Given the description of an element on the screen output the (x, y) to click on. 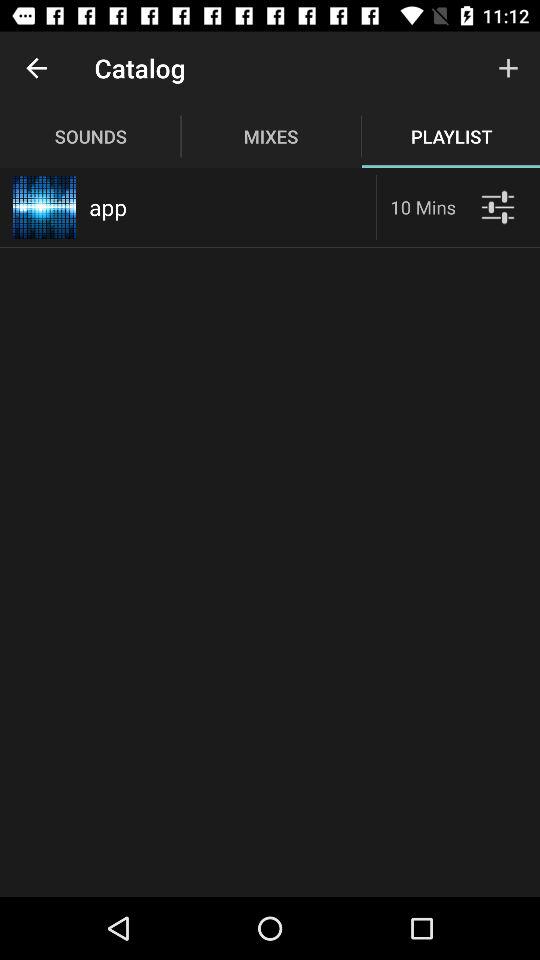
click item to the right of mixes icon (508, 67)
